Given the description of an element on the screen output the (x, y) to click on. 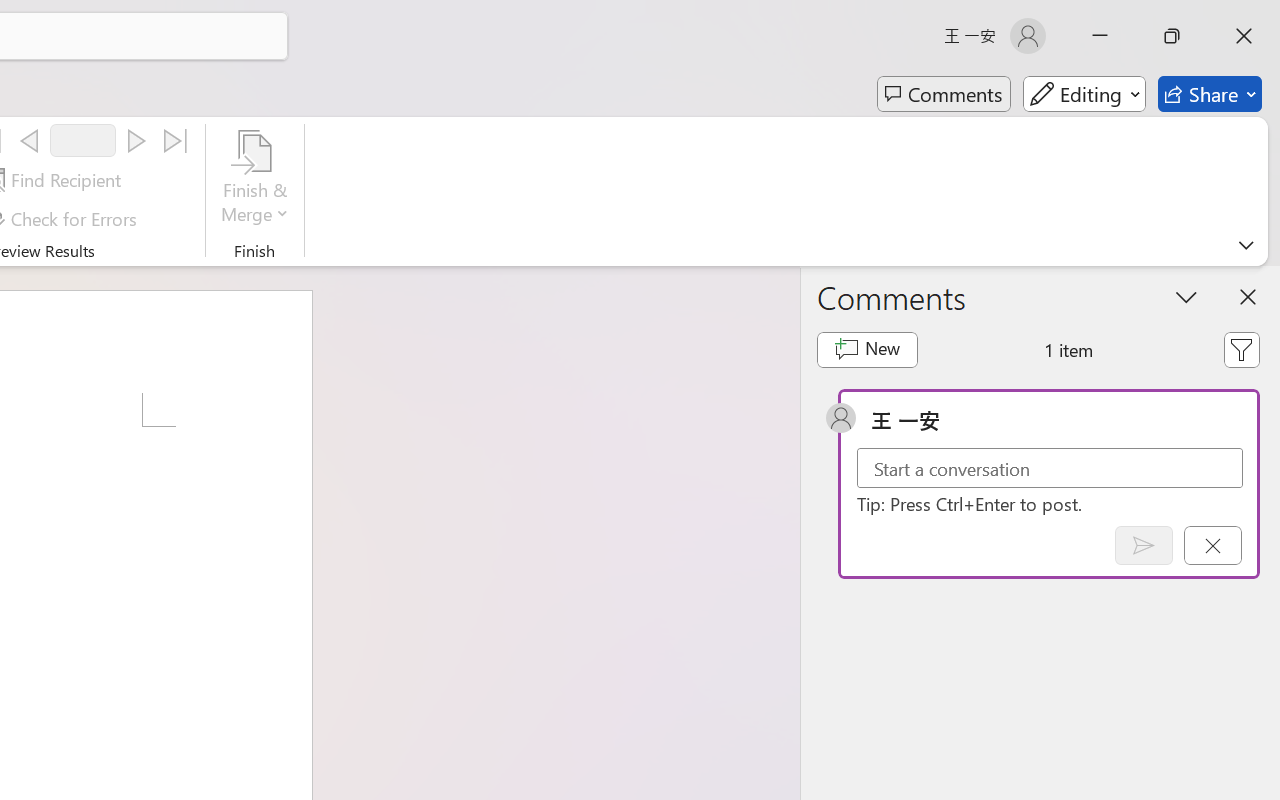
Start a conversation (1050, 467)
Record (83, 140)
Filter (1241, 350)
Last (175, 141)
Previous (29, 141)
Next (136, 141)
Post comment (Ctrl + Enter) (1143, 545)
